Given the description of an element on the screen output the (x, y) to click on. 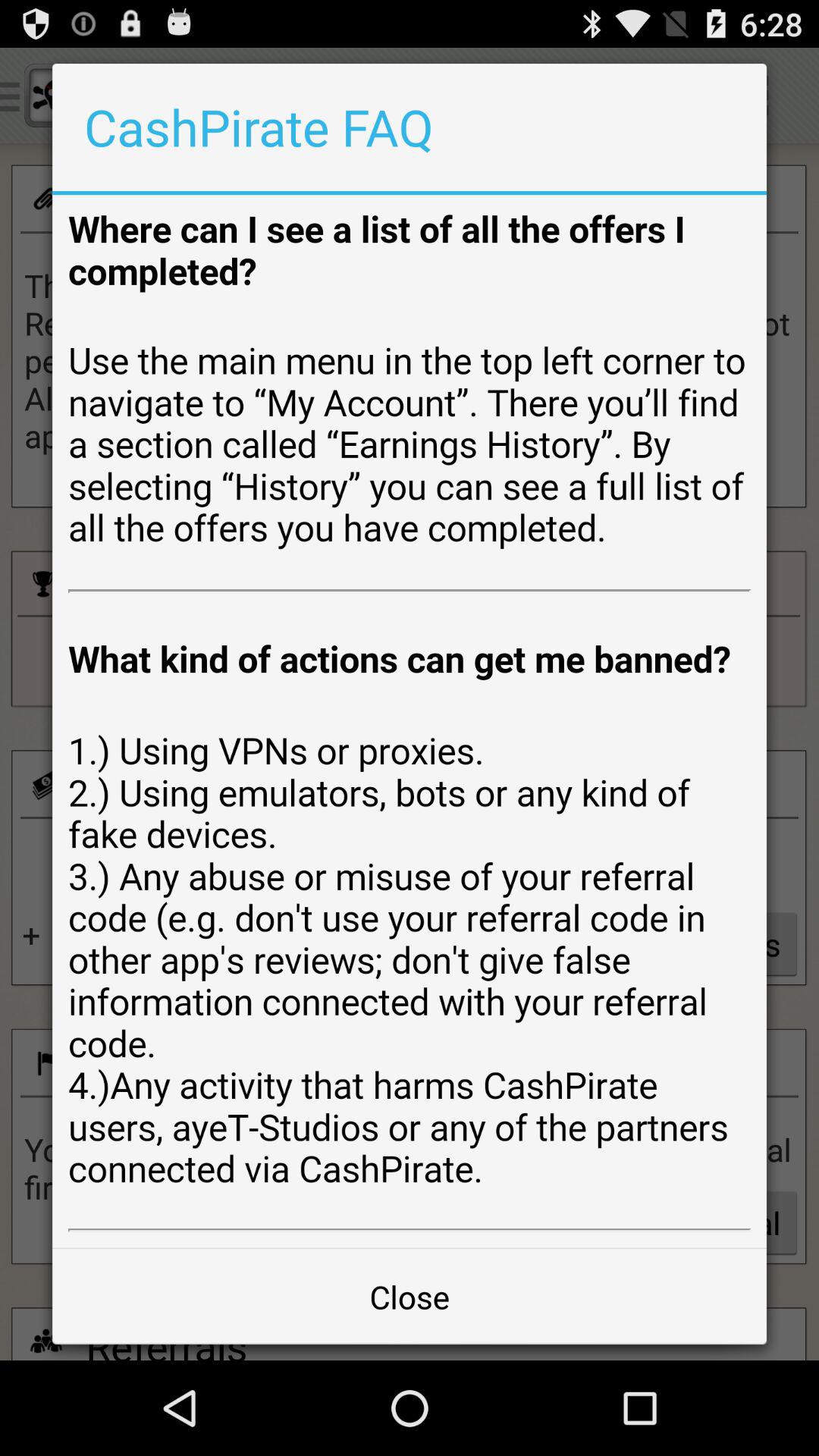
faq question (409, 721)
